Given the description of an element on the screen output the (x, y) to click on. 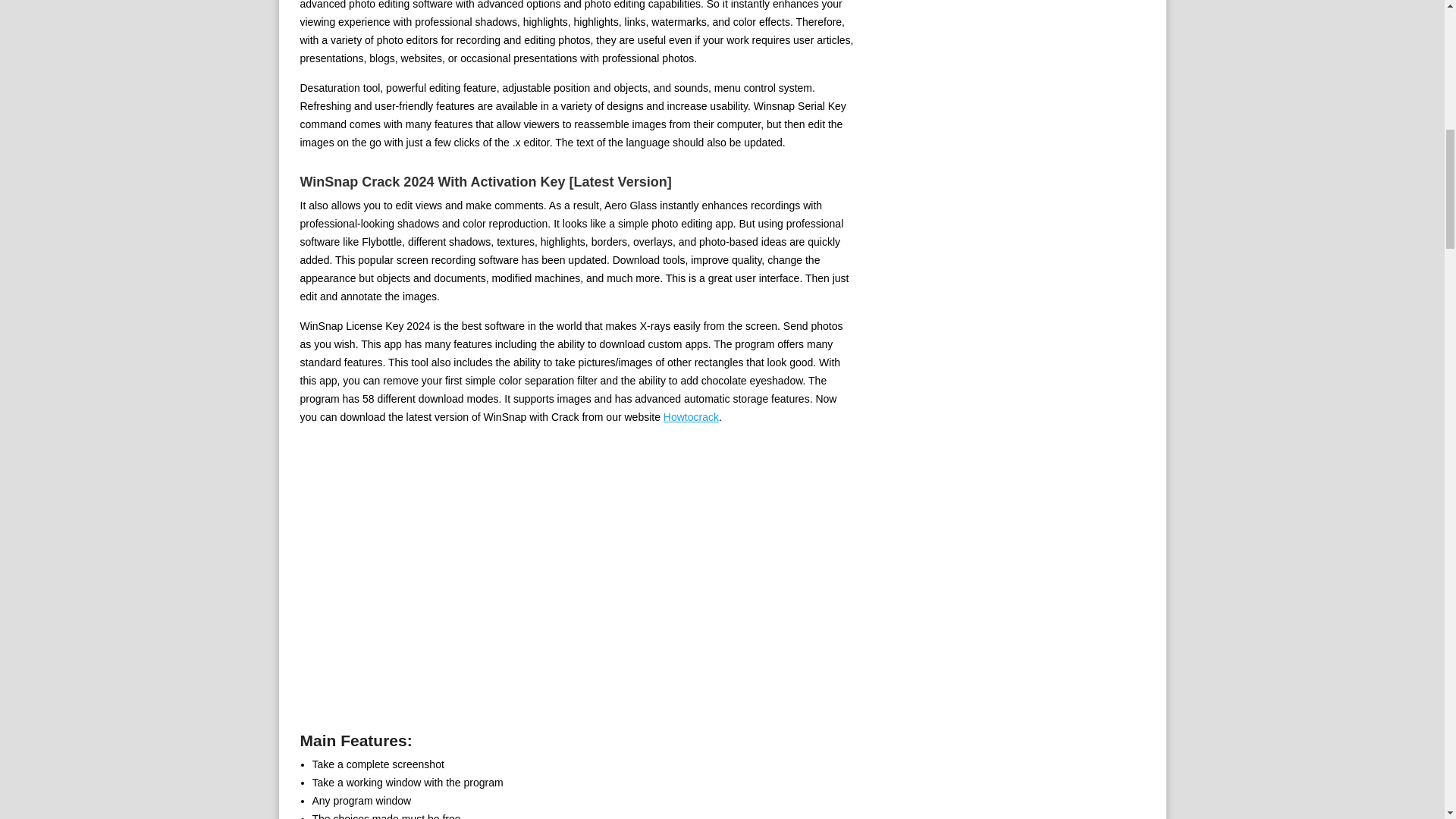
Howtocrack (691, 417)
